Given the description of an element on the screen output the (x, y) to click on. 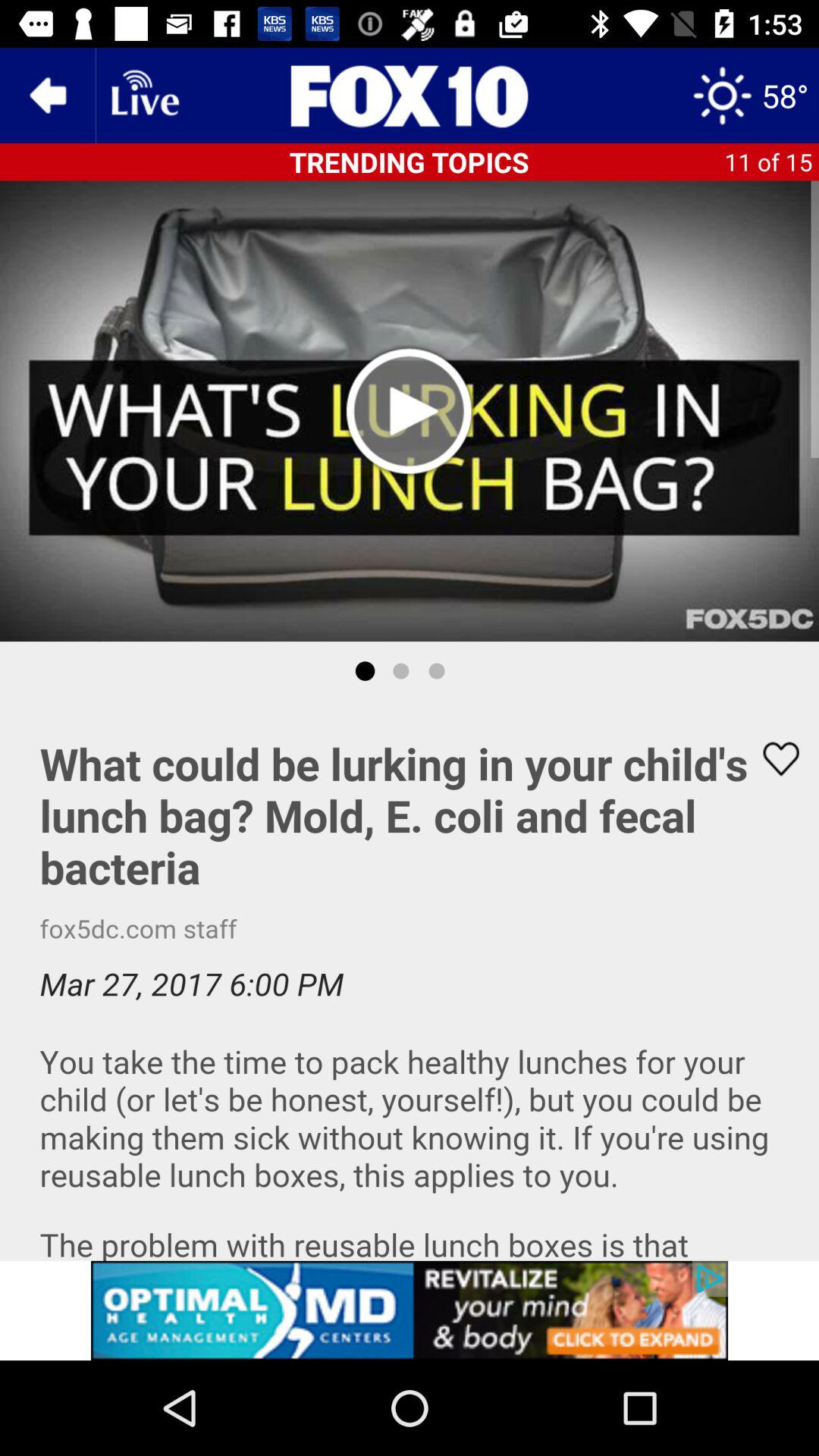
advertiser banner (409, 1310)
